Given the description of an element on the screen output the (x, y) to click on. 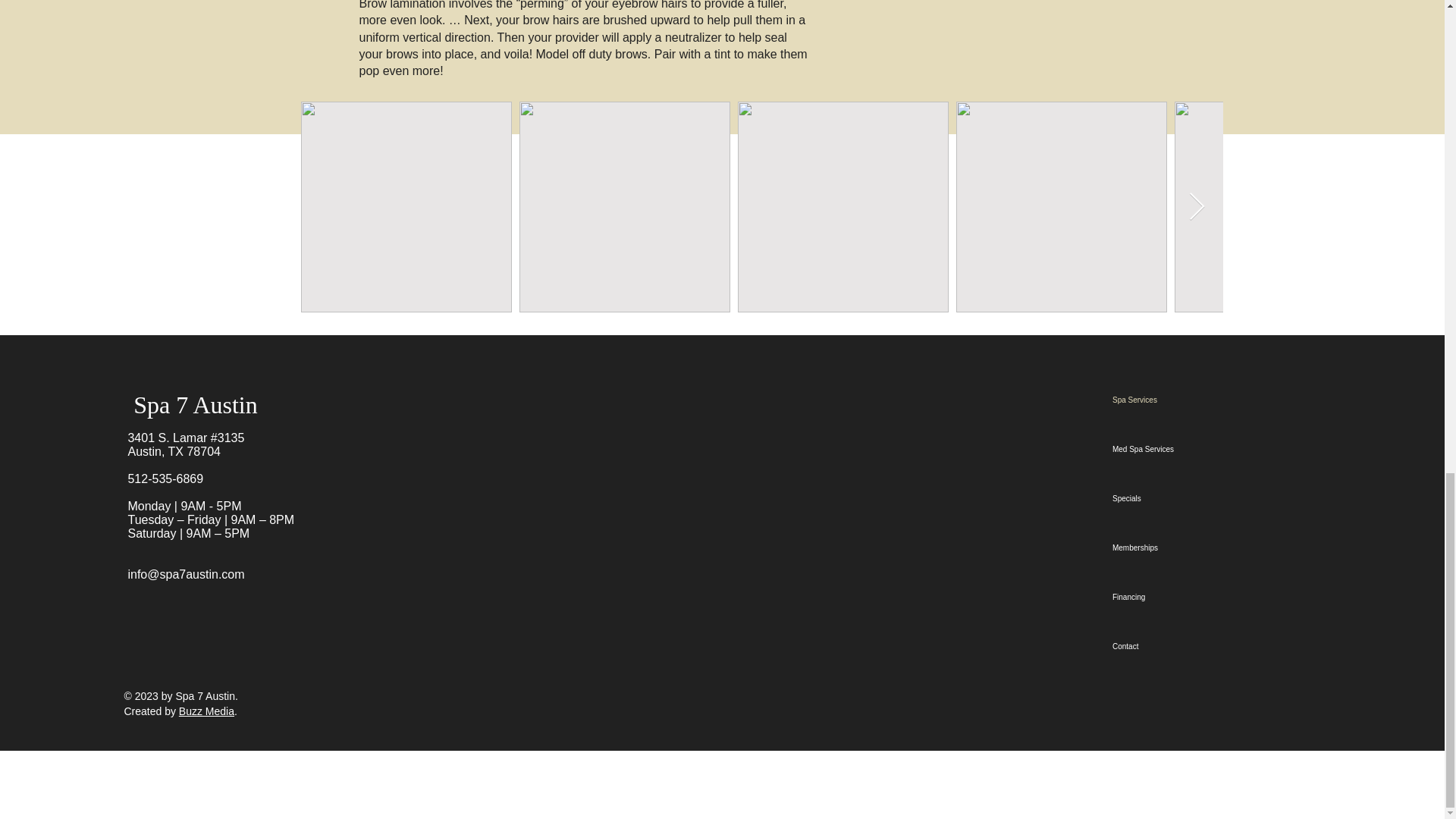
Specials (1146, 498)
Financing (1146, 596)
Spa 7 Austin (195, 404)
Buzz Media (206, 711)
Memberships (1146, 547)
